Given the description of an element on the screen output the (x, y) to click on. 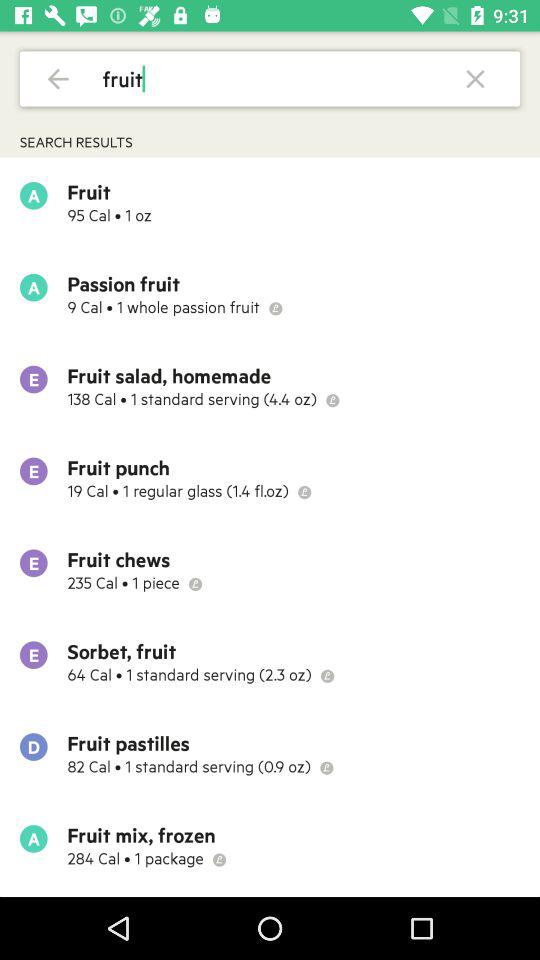
tap the icon next to the fruit item (475, 78)
